Given the description of an element on the screen output the (x, y) to click on. 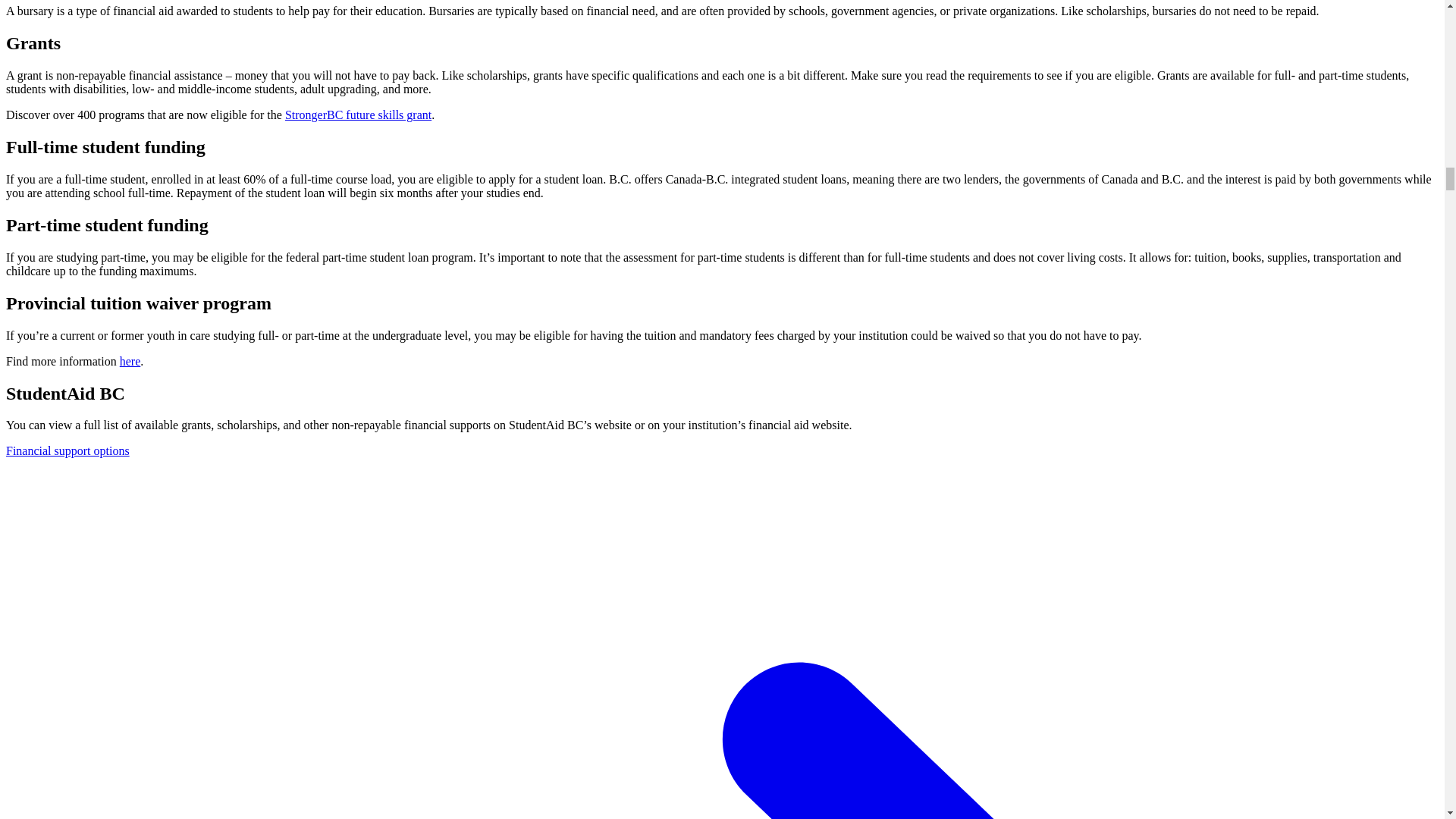
StrongerBC future skills grant (357, 114)
here (130, 360)
